Given the description of an element on the screen output the (x, y) to click on. 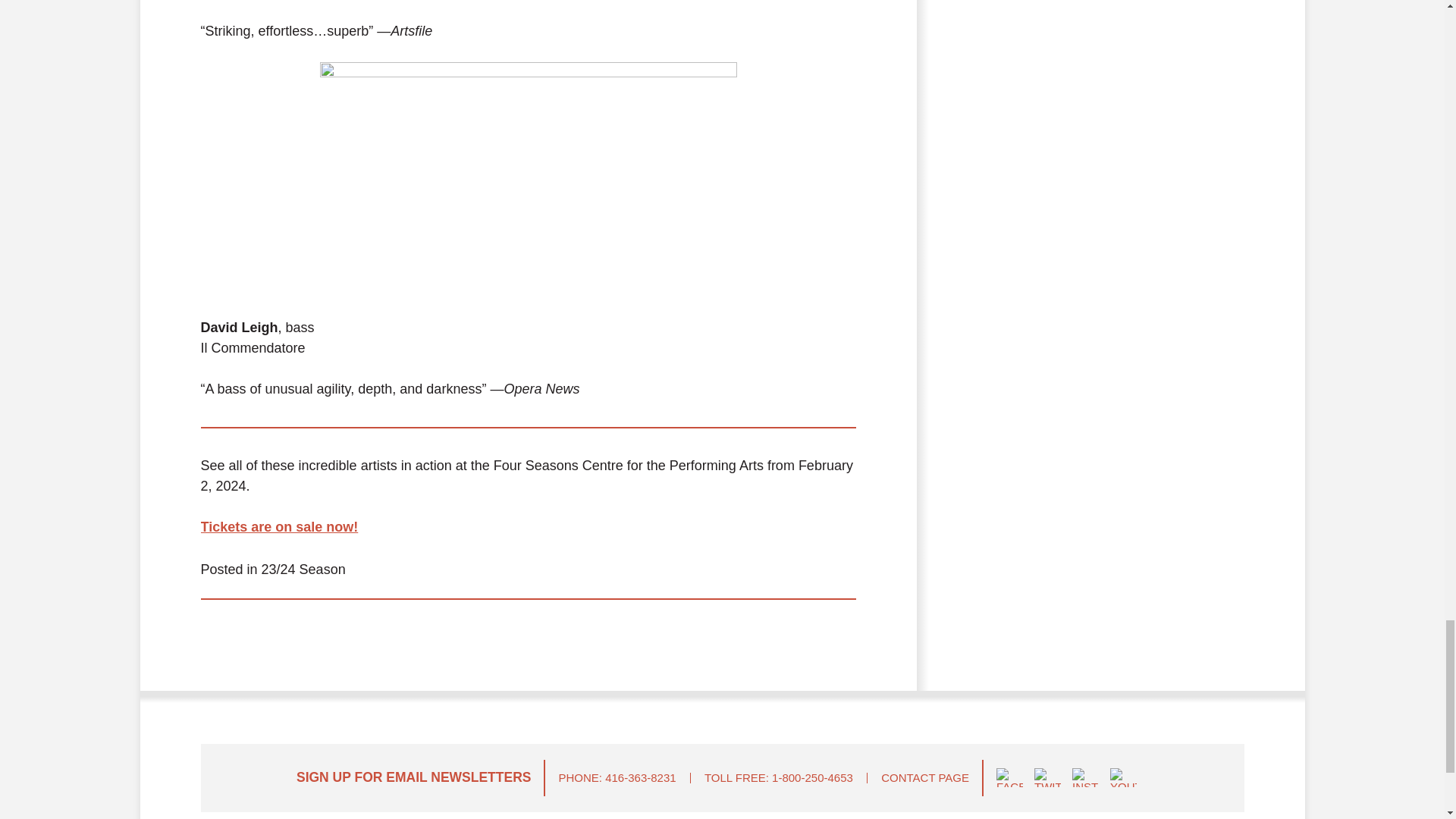
Tickets are on sale now! (279, 526)
